Given the description of an element on the screen output the (x, y) to click on. 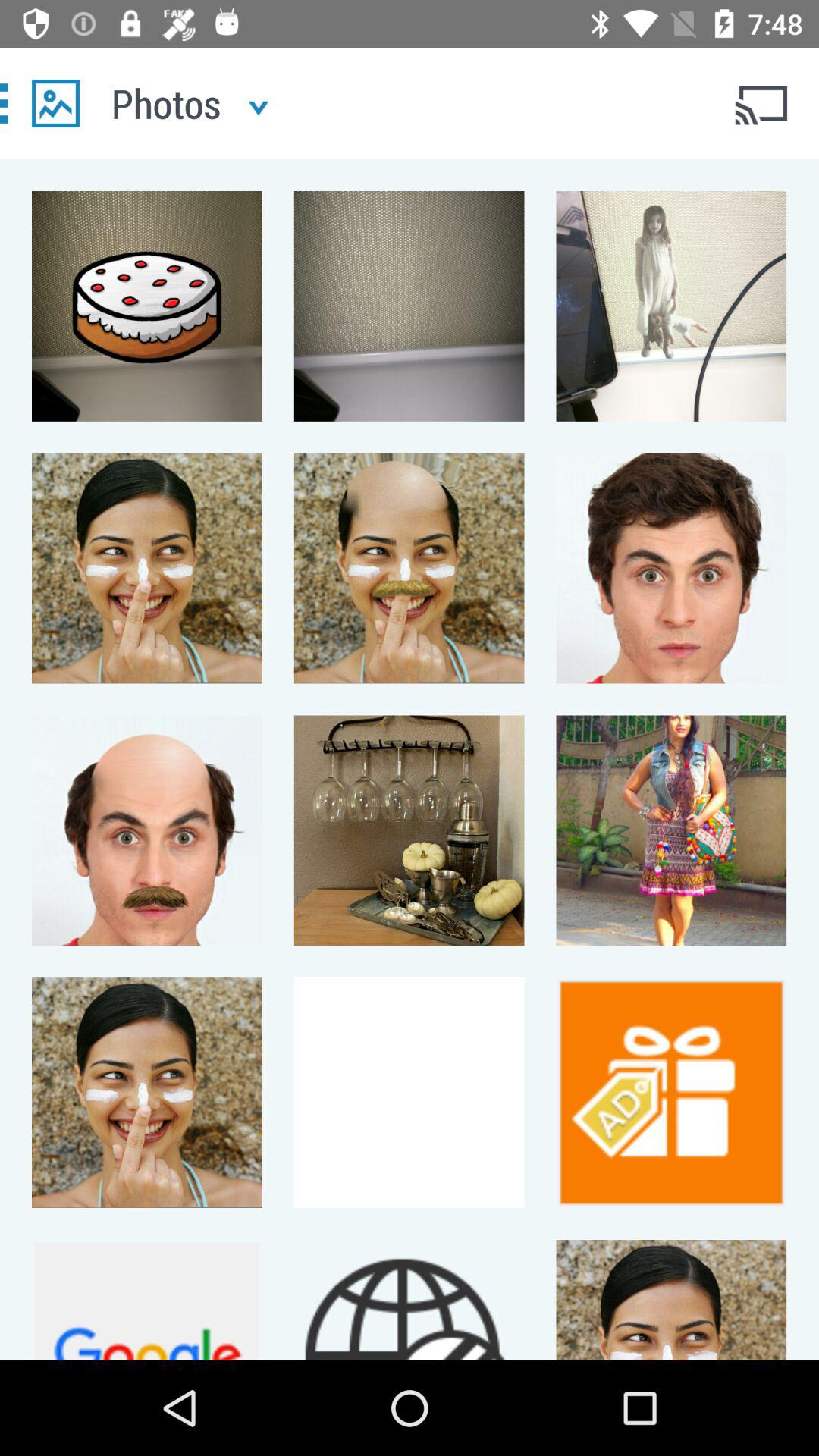
wifi user (763, 103)
